Given the description of an element on the screen output the (x, y) to click on. 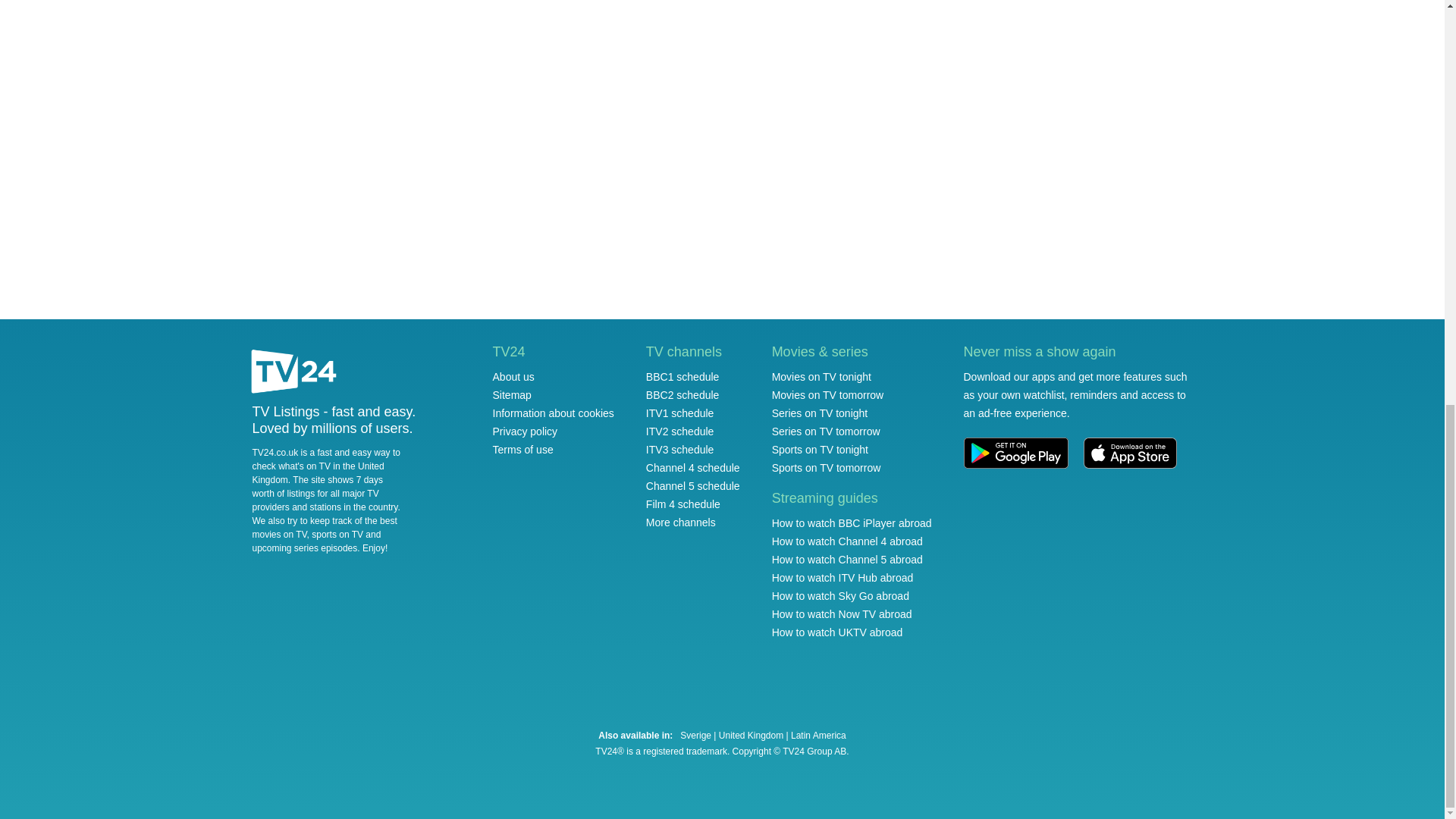
ITV3 schedule (680, 449)
BBC1 schedule (682, 377)
Sitemap (512, 395)
Film 4 schedule (683, 503)
Information about cookies (553, 413)
ITV1 schedule (680, 413)
Channel 5 schedule (692, 485)
Channel 5 schedule (692, 485)
BBC1 schedule (682, 377)
Privacy policy (525, 431)
